Given the description of an element on the screen output the (x, y) to click on. 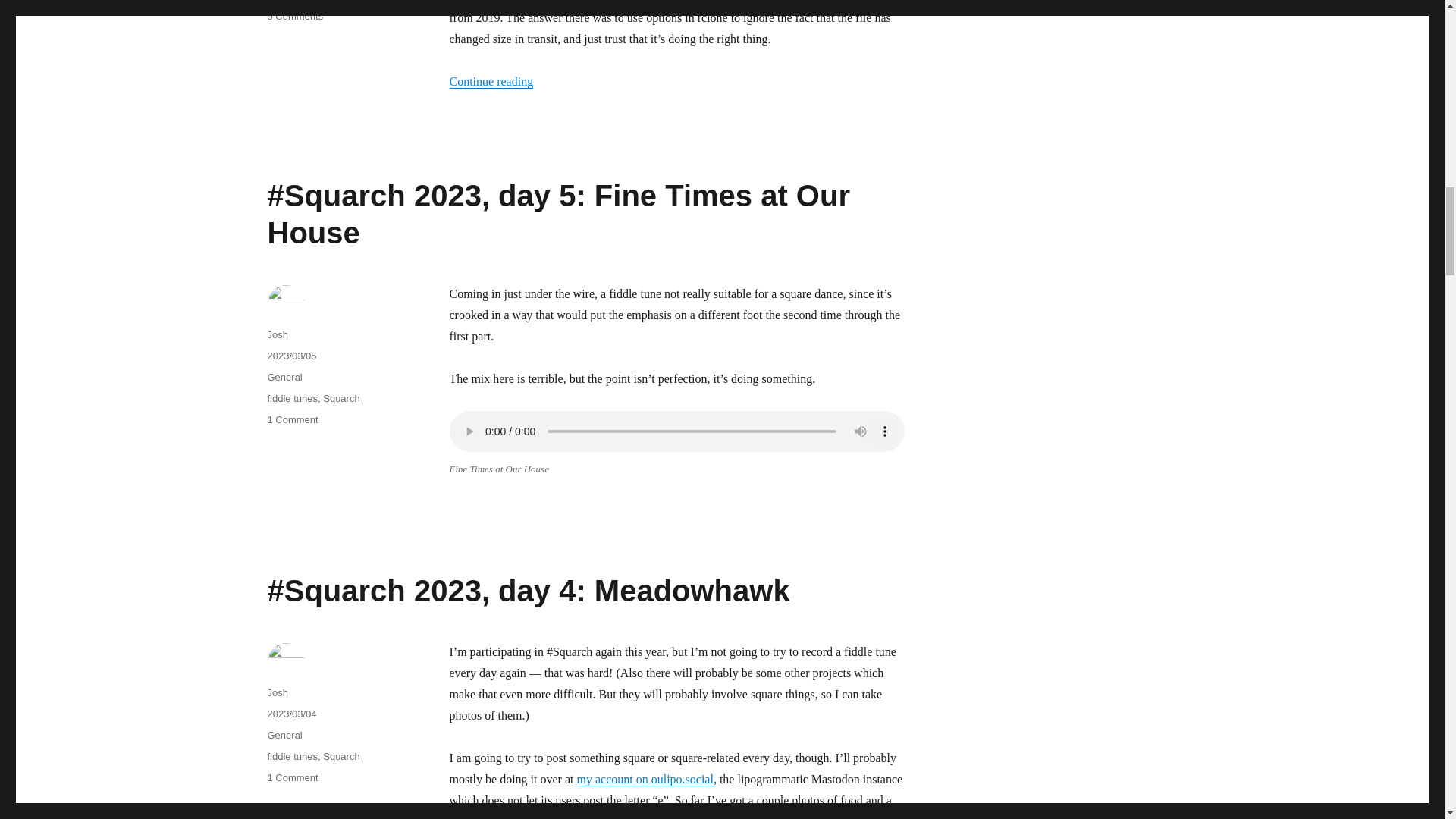
Squarch (341, 398)
fiddle tunes (291, 398)
my account on oulipo.social (294, 16)
Josh (644, 779)
General (276, 334)
Technology (283, 377)
support forum post (291, 0)
